Given the description of an element on the screen output the (x, y) to click on. 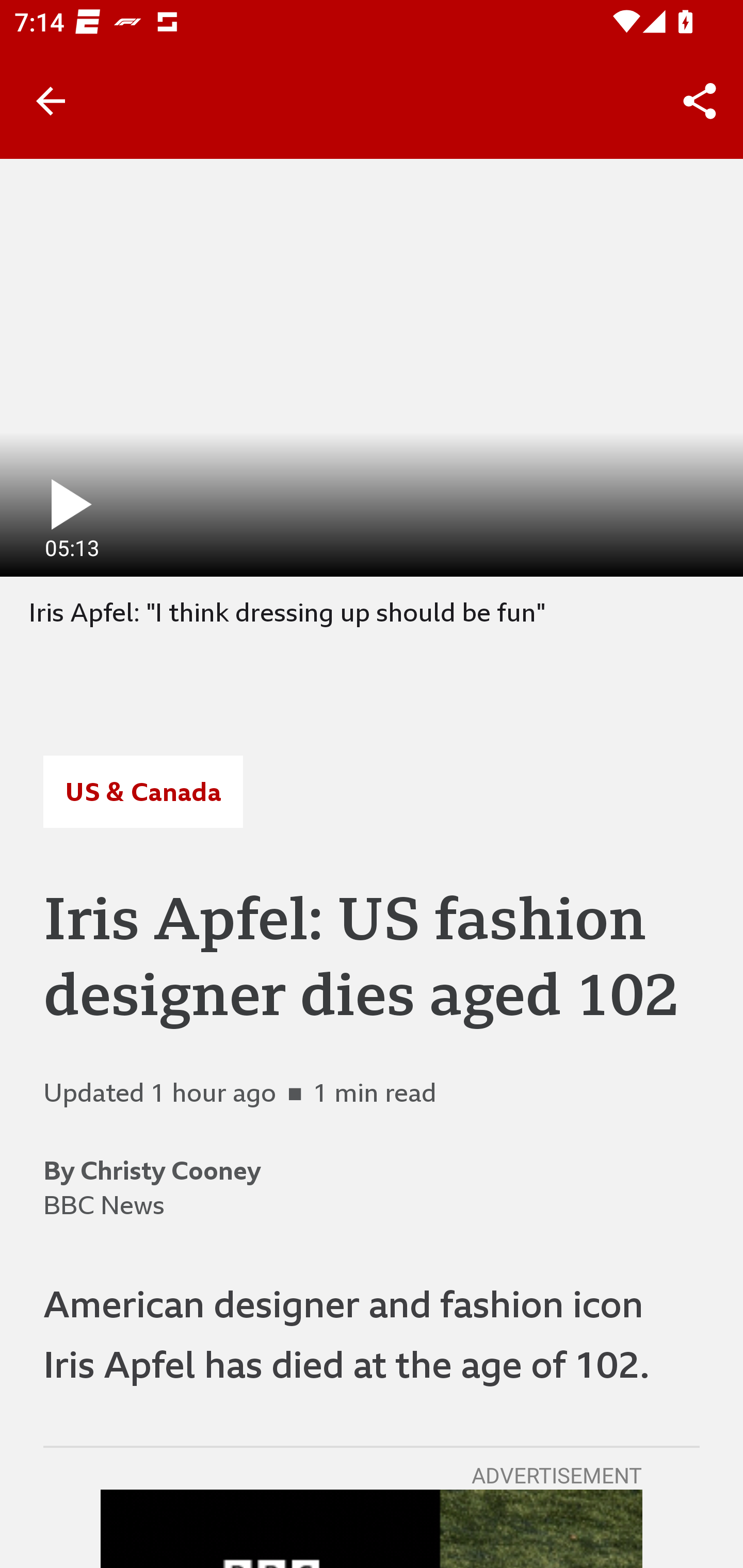
Back (50, 101)
Share (699, 101)
play fullscreen 05:13 5 minutes, 13 seconds (371, 367)
US & Canada (142, 791)
